Given the description of an element on the screen output the (x, y) to click on. 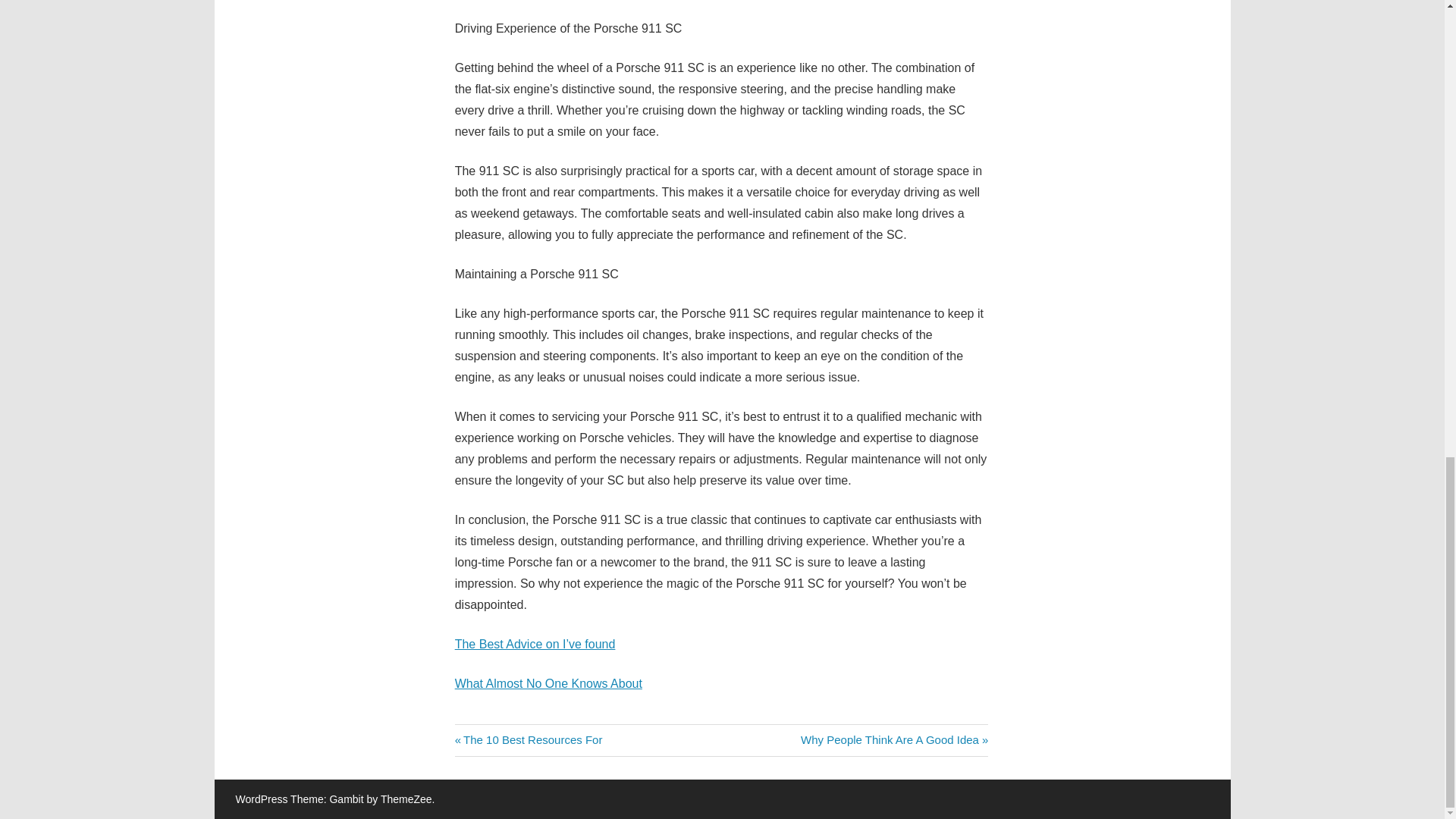
What Almost No One Knows About (528, 739)
